Given the description of an element on the screen output the (x, y) to click on. 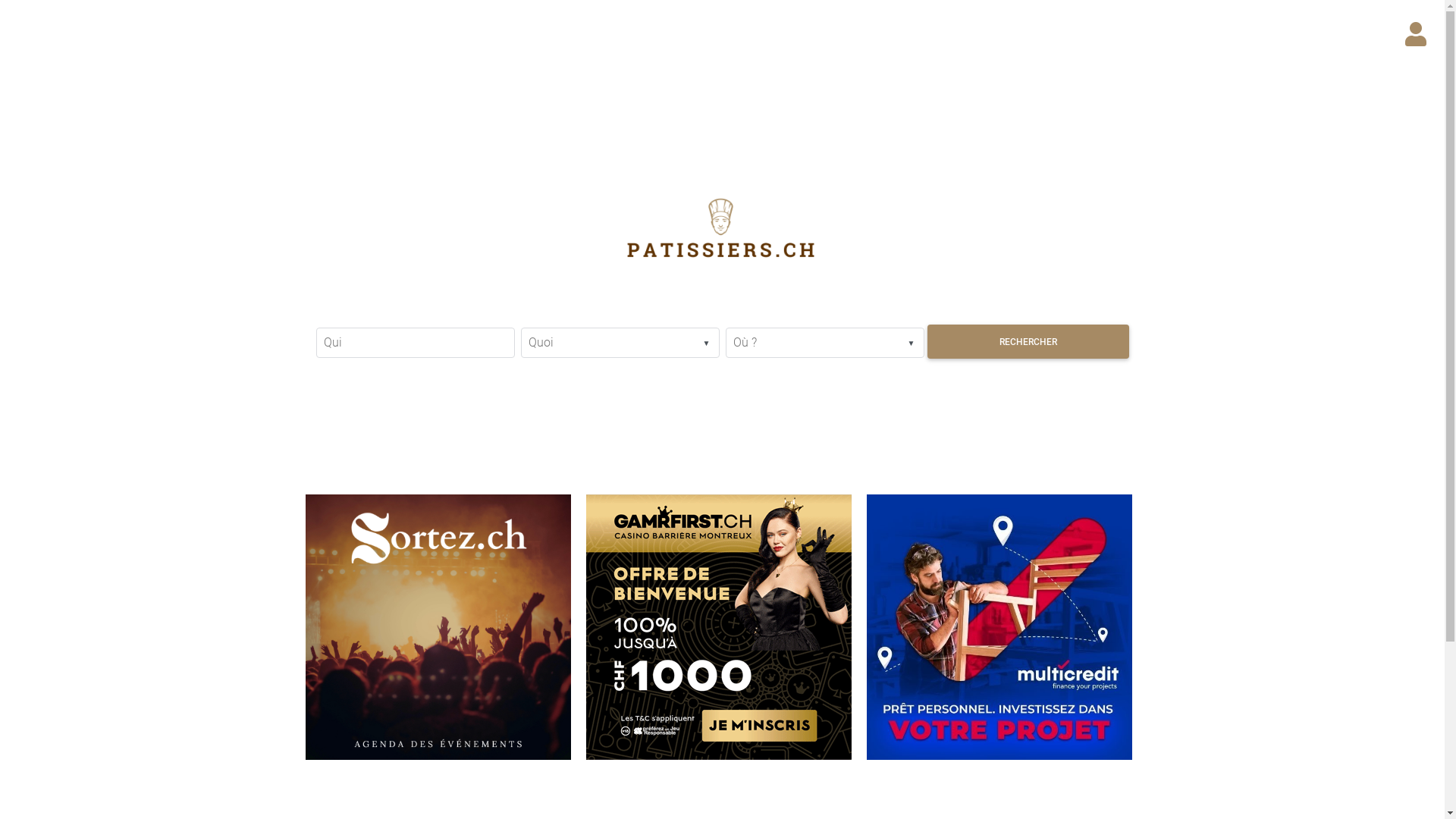
RECHERCHER Element type: text (1027, 341)
